Given the description of an element on the screen output the (x, y) to click on. 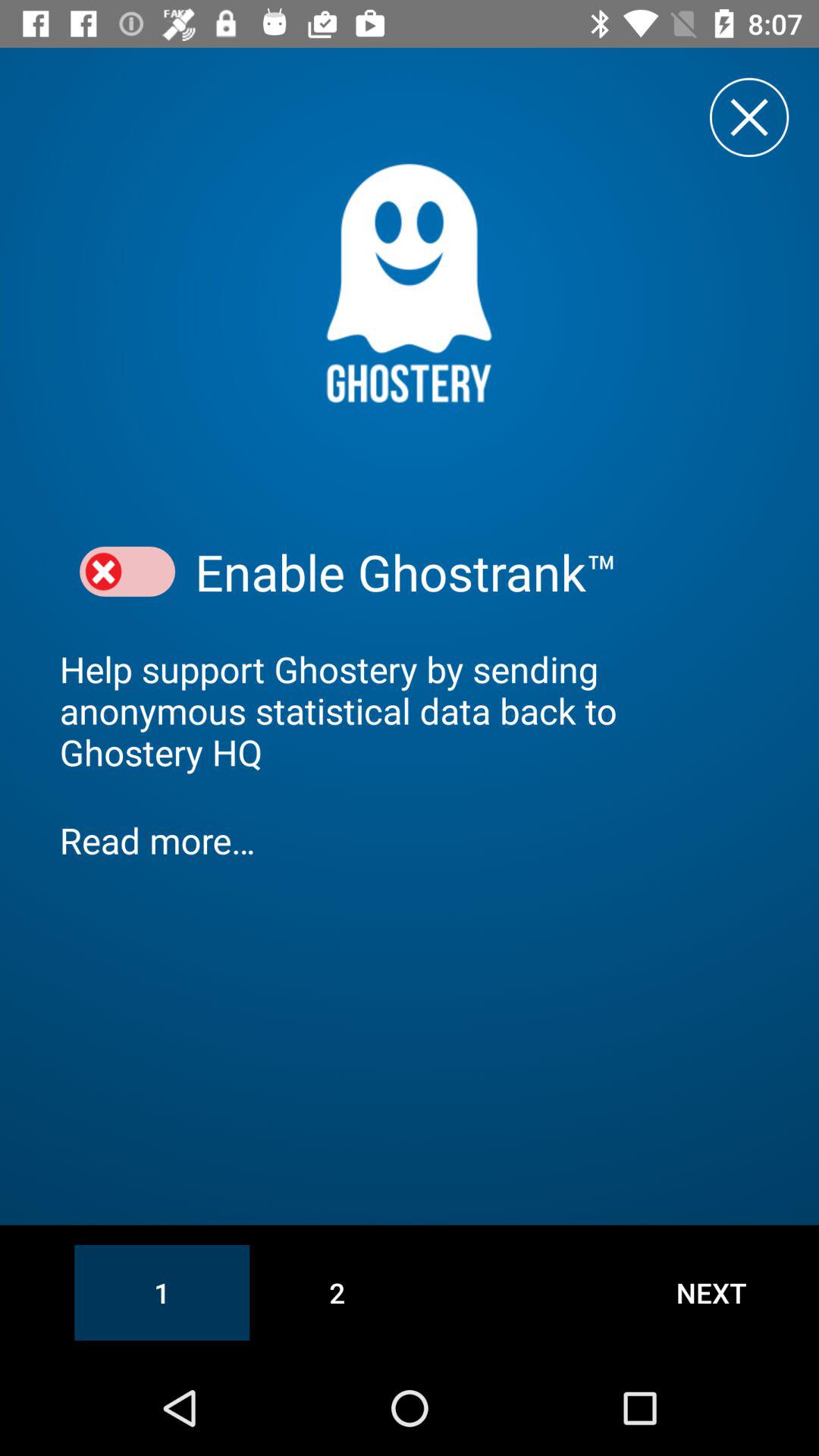
tap the icon below help support ghostery (409, 840)
